Given the description of an element on the screen output the (x, y) to click on. 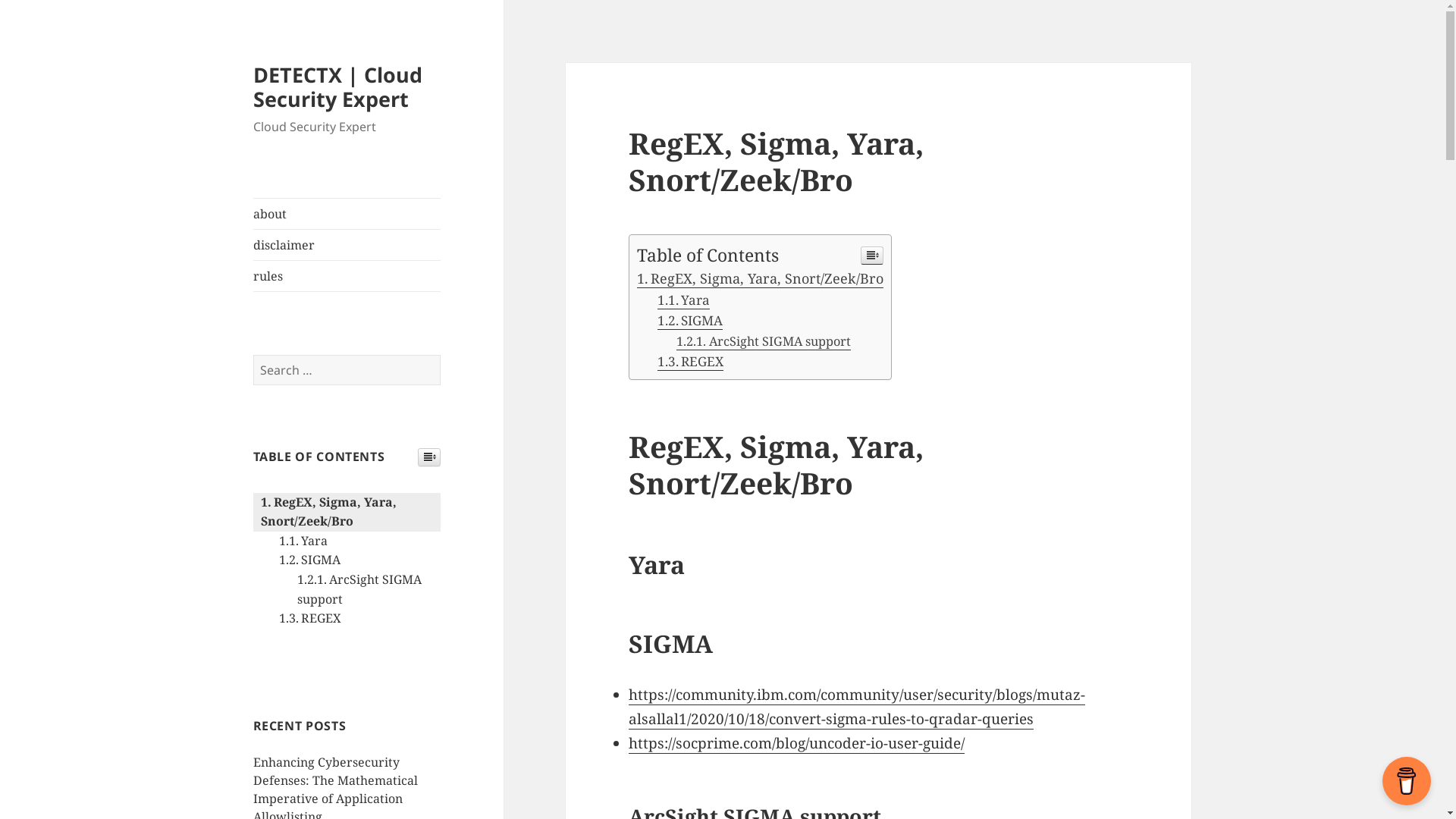
RegEX, Sigma, Yara, Snort/Zeek/Bro Element type: text (328, 511)
SIGMA Element type: text (309, 559)
ArcSight SIGMA support Element type: text (359, 589)
RegEX, Sigma, Yara, Snort/Zeek/Bro Element type: text (760, 278)
https://socprime.com/blog/uncoder-io-user-guide/ Element type: text (796, 743)
REGEX Element type: text (310, 617)
disclaimer Element type: text (347, 244)
about Element type: text (347, 213)
Yara Element type: text (303, 540)
Search Element type: text (439, 354)
rules Element type: text (347, 275)
REGEX Element type: text (690, 361)
DETECTX | Cloud Security Expert Element type: text (337, 86)
Yara Element type: text (683, 300)
SIGMA Element type: text (689, 320)
ArcSight SIGMA support Element type: text (763, 341)
